Given the description of an element on the screen output the (x, y) to click on. 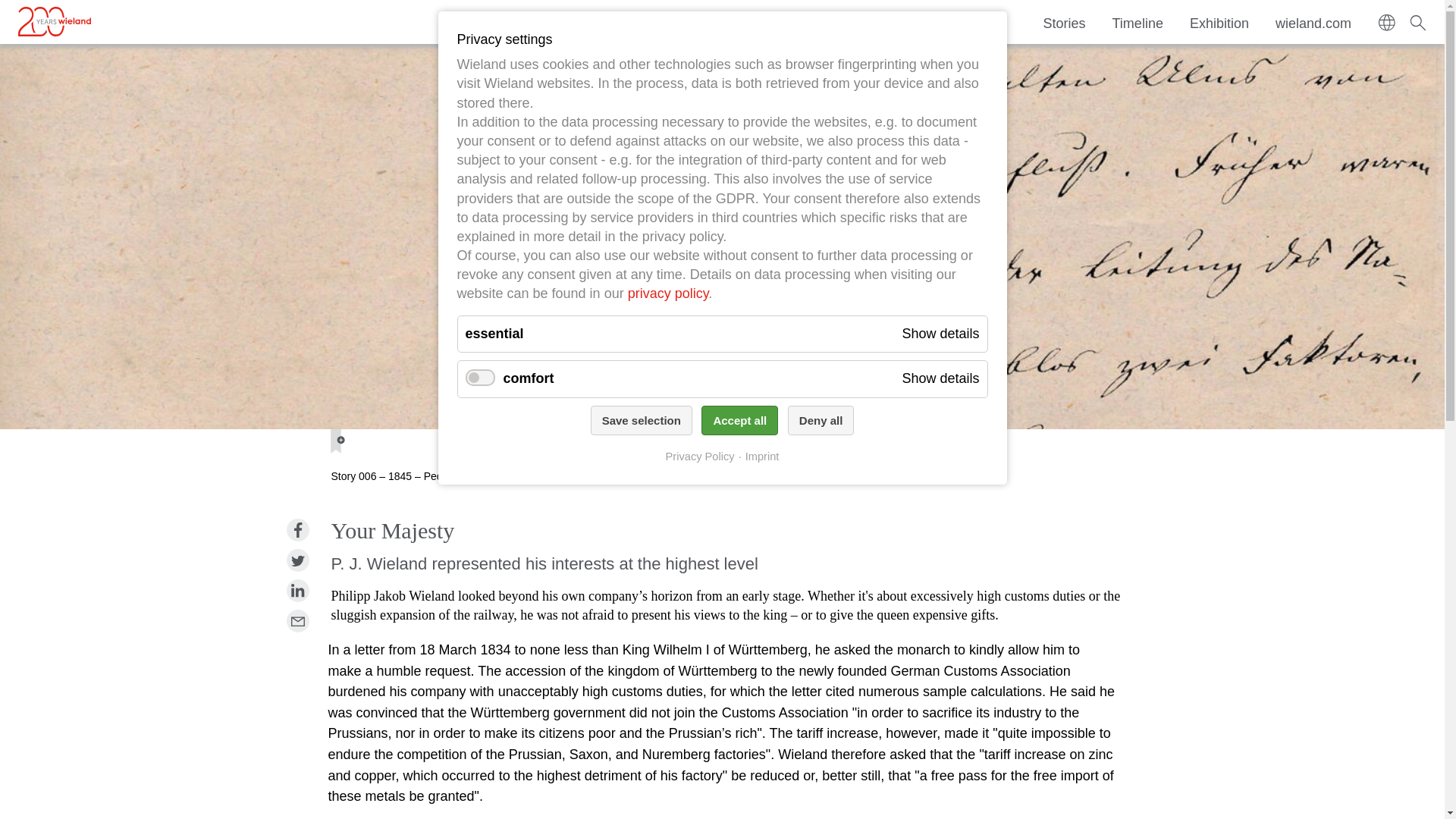
Exhibition (1219, 23)
Exhibition (1219, 23)
Timeline (1137, 23)
Stories (1064, 23)
Show details (940, 379)
Show details (940, 334)
privacy policy (668, 293)
wieland.com (1313, 23)
Stories (1064, 23)
Accept all (739, 419)
Wieland 200 Website - EN (52, 19)
Timeline (1137, 23)
Save selection (642, 419)
wieland.com (1313, 23)
